Given the description of an element on the screen output the (x, y) to click on. 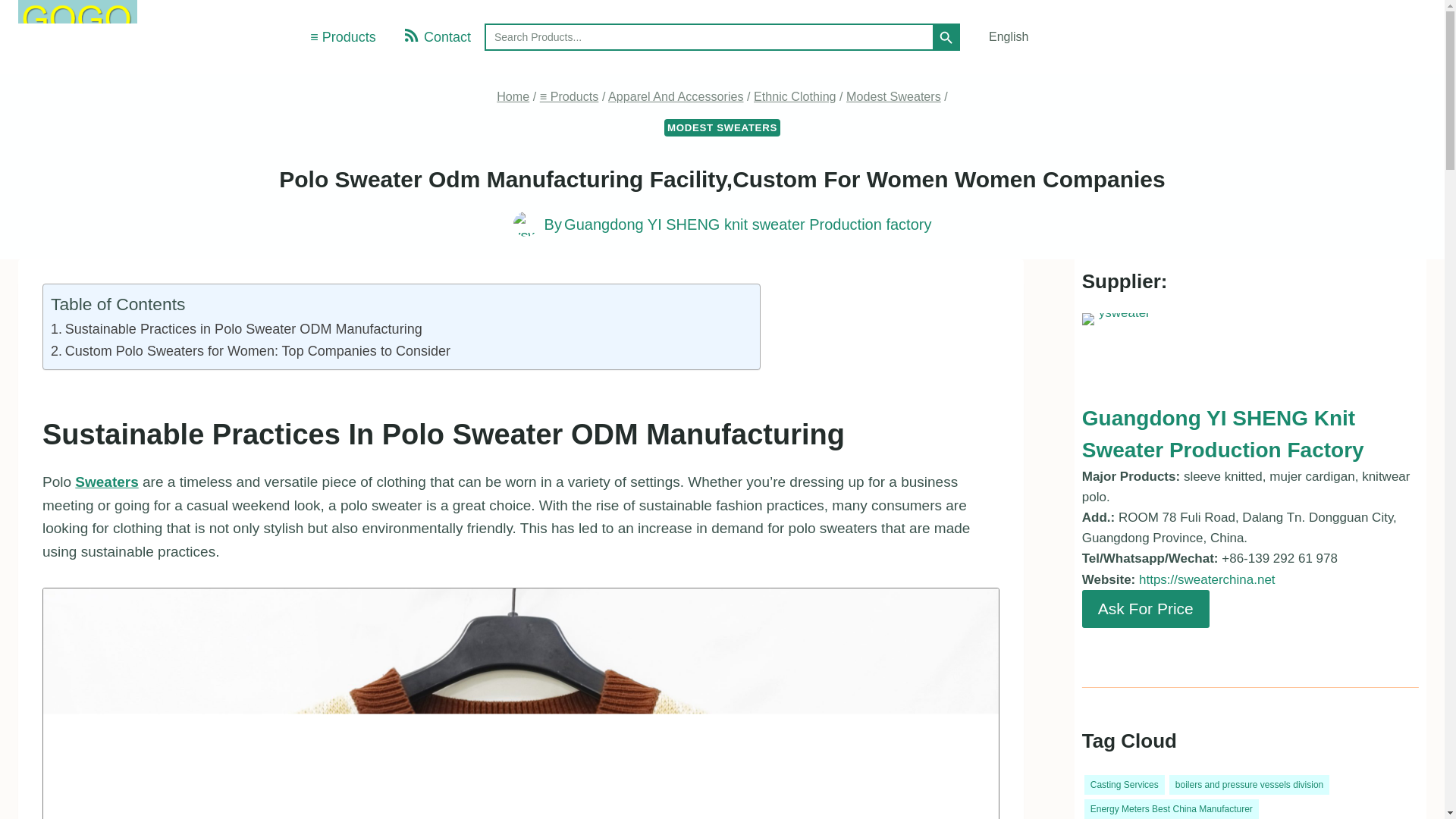
Sustainable Practices in Polo Sweater ODM Manufacturing (236, 329)
Guangdong YI SHENG knit sweater Production factory (747, 224)
Search Button (946, 36)
Ethnic Clothing (794, 96)
Home (512, 96)
Custom Polo Sweaters for Women: Top Companies to Consider (249, 351)
Custom Polo Sweaters for Women: Top Companies to Consider (249, 351)
MODEST SWEATERS (721, 127)
Modest Sweaters (892, 96)
Apparel And Accessories (676, 96)
English (1000, 37)
Sustainable Practices in Polo Sweater ODM Manufacturing (236, 329)
Contact (437, 37)
Sweaters (106, 481)
